Given the description of an element on the screen output the (x, y) to click on. 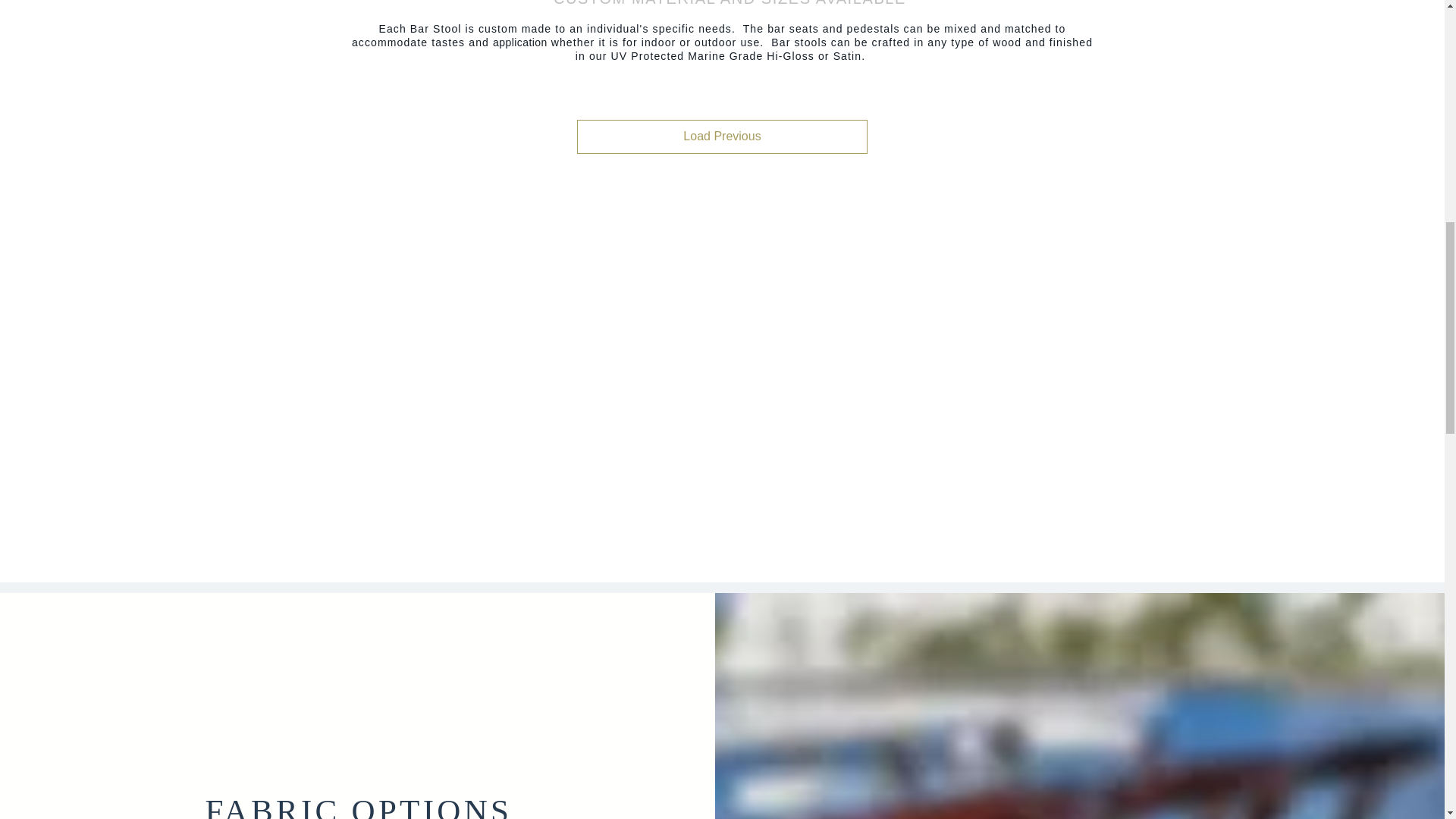
Load Previous (721, 136)
